Given the description of an element on the screen output the (x, y) to click on. 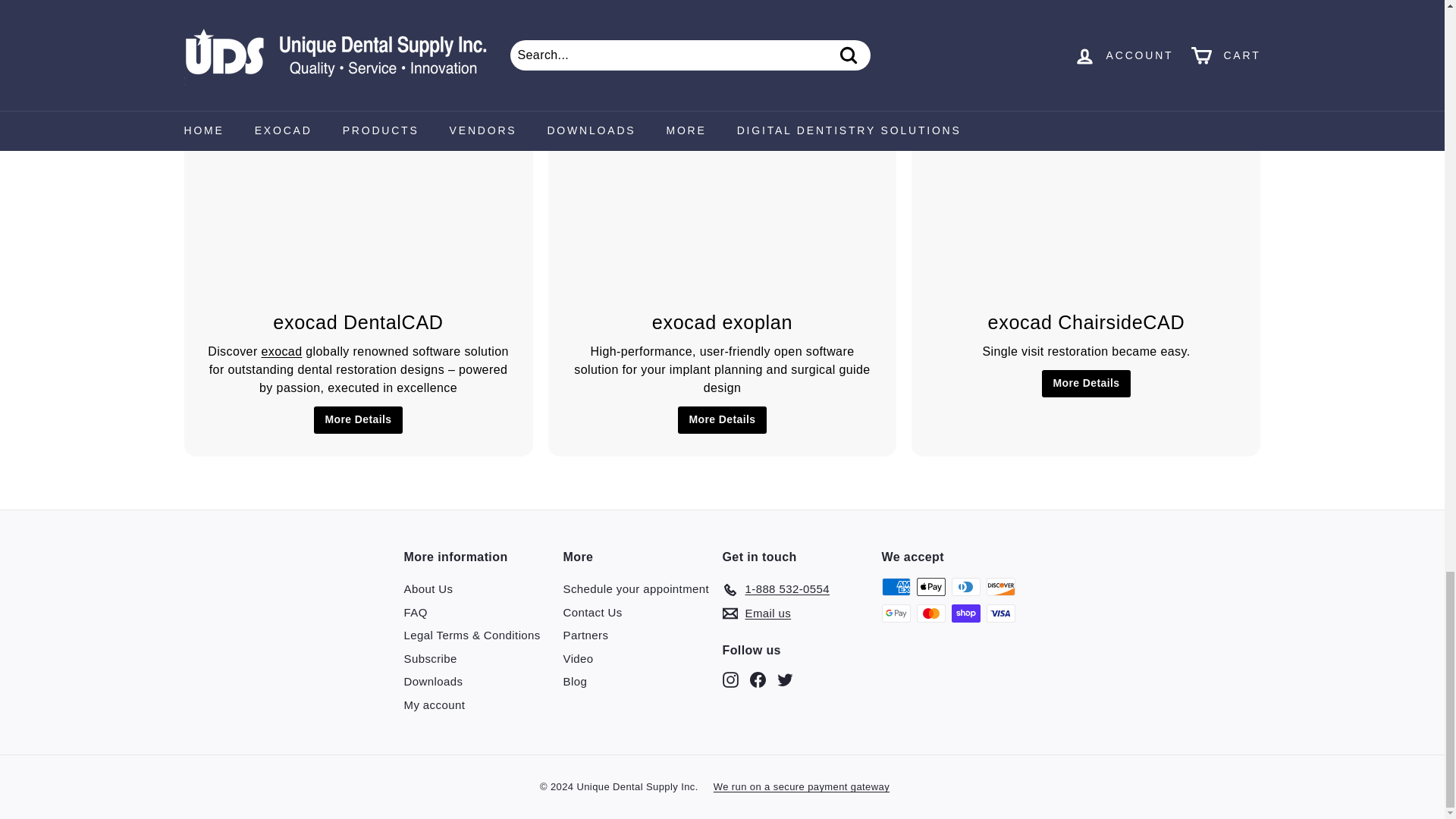
Visa (999, 613)
Mastercard (929, 613)
Apple Pay (929, 587)
Google Pay (895, 613)
American Express (895, 587)
Shop Pay (964, 613)
Diners Club (964, 587)
Discover (999, 587)
